Given the description of an element on the screen output the (x, y) to click on. 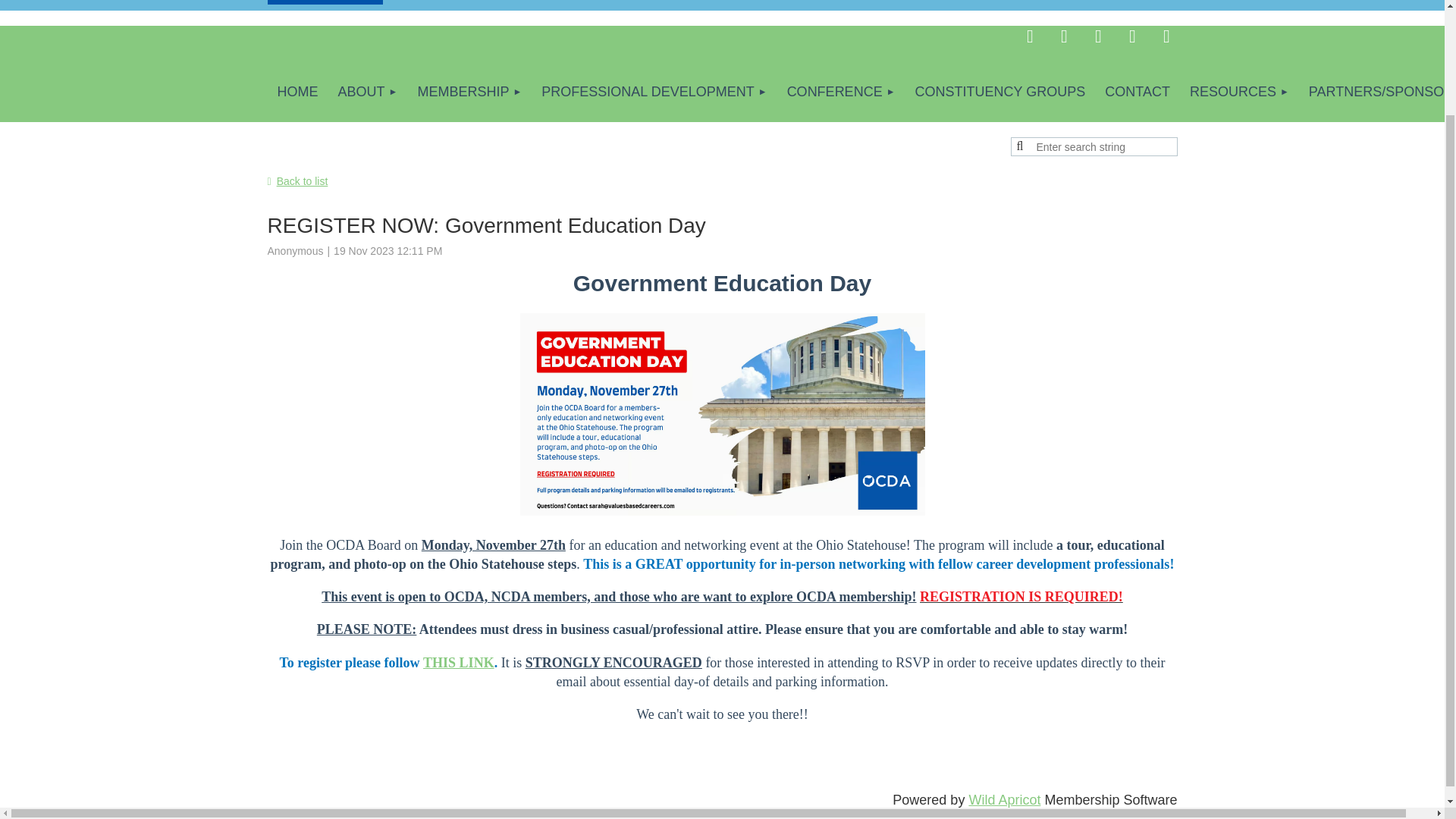
ABOUT (367, 92)
HOME (296, 92)
